Given the description of an element on the screen output the (x, y) to click on. 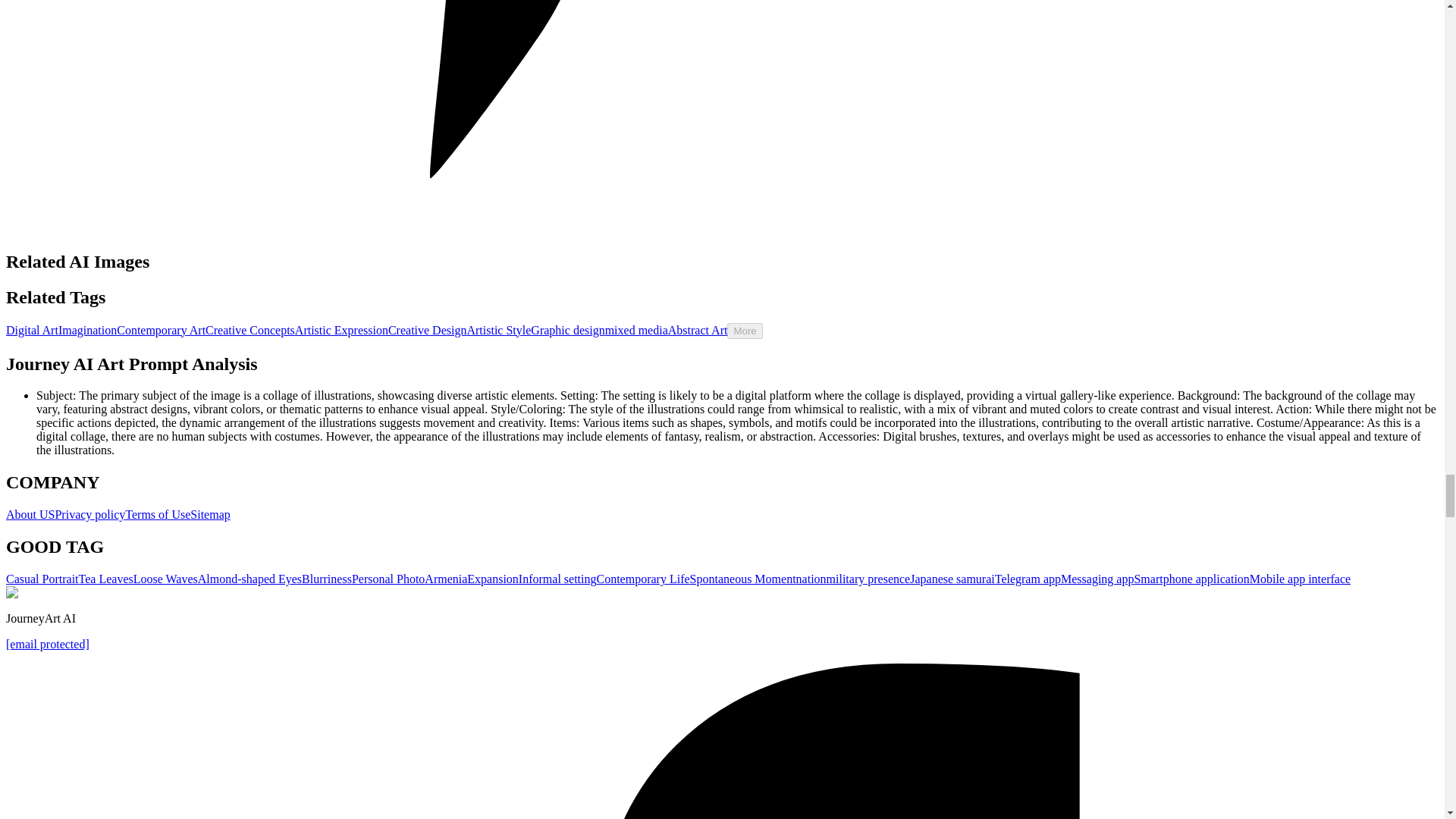
Privacy policy (90, 513)
Casual Portrait (41, 578)
Informal setting (557, 578)
About US (30, 513)
mixed media (636, 329)
Armenia (446, 578)
Graphic design (567, 329)
Blurriness (326, 578)
Messaging app (1097, 578)
Privacy policy (90, 513)
Almond-shaped Eyes (249, 578)
Loose Waves (165, 578)
Loose Waves (165, 578)
Informal setting (557, 578)
Sitemap (210, 513)
